Given the description of an element on the screen output the (x, y) to click on. 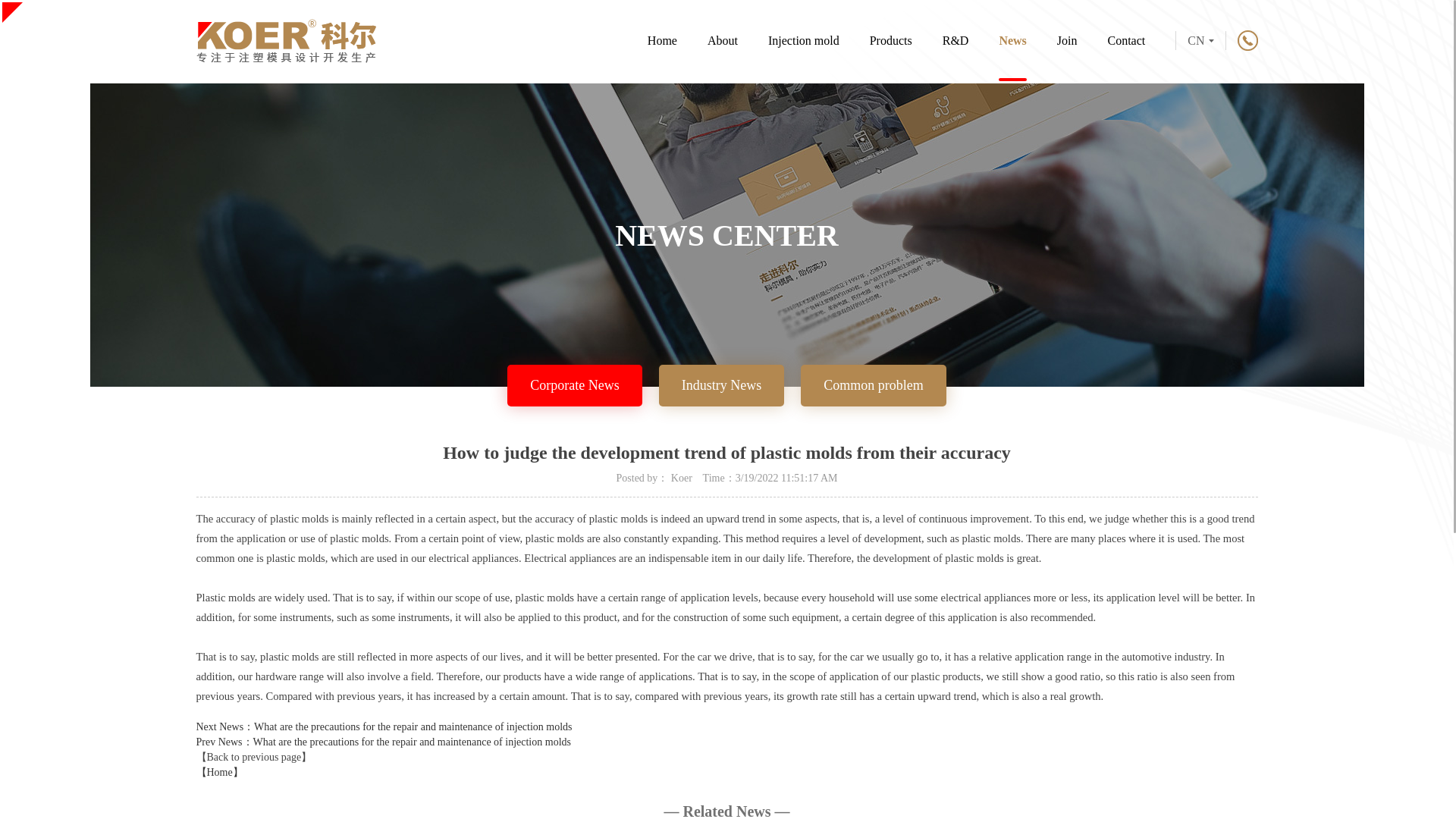
Common problem (873, 385)
Corporate News (574, 385)
CN (1200, 40)
Industry News (721, 385)
